Given the description of an element on the screen output the (x, y) to click on. 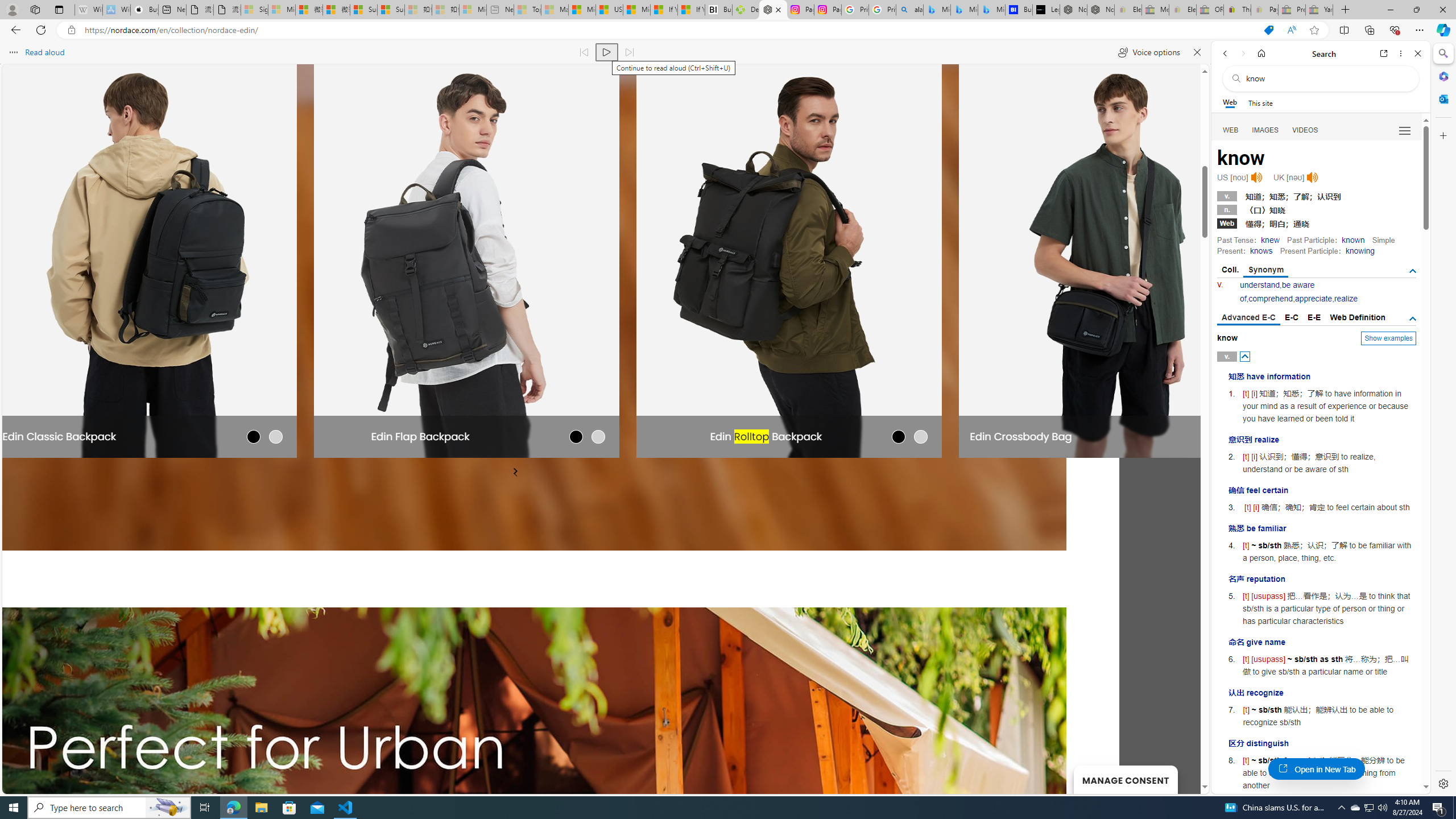
Forward (1242, 53)
Payments Terms of Use | eBay.com - Sleeping (1264, 9)
More options (1401, 53)
Coll. (1230, 269)
Workspaces (34, 9)
realize (1345, 298)
Read previous paragraph (583, 52)
This site has coupons! Shopping in Microsoft Edge (1268, 29)
Yard, Garden & Outdoor Living - Sleeping (1319, 9)
AutomationID: posbtn_0 (1245, 356)
